Given the description of an element on the screen output the (x, y) to click on. 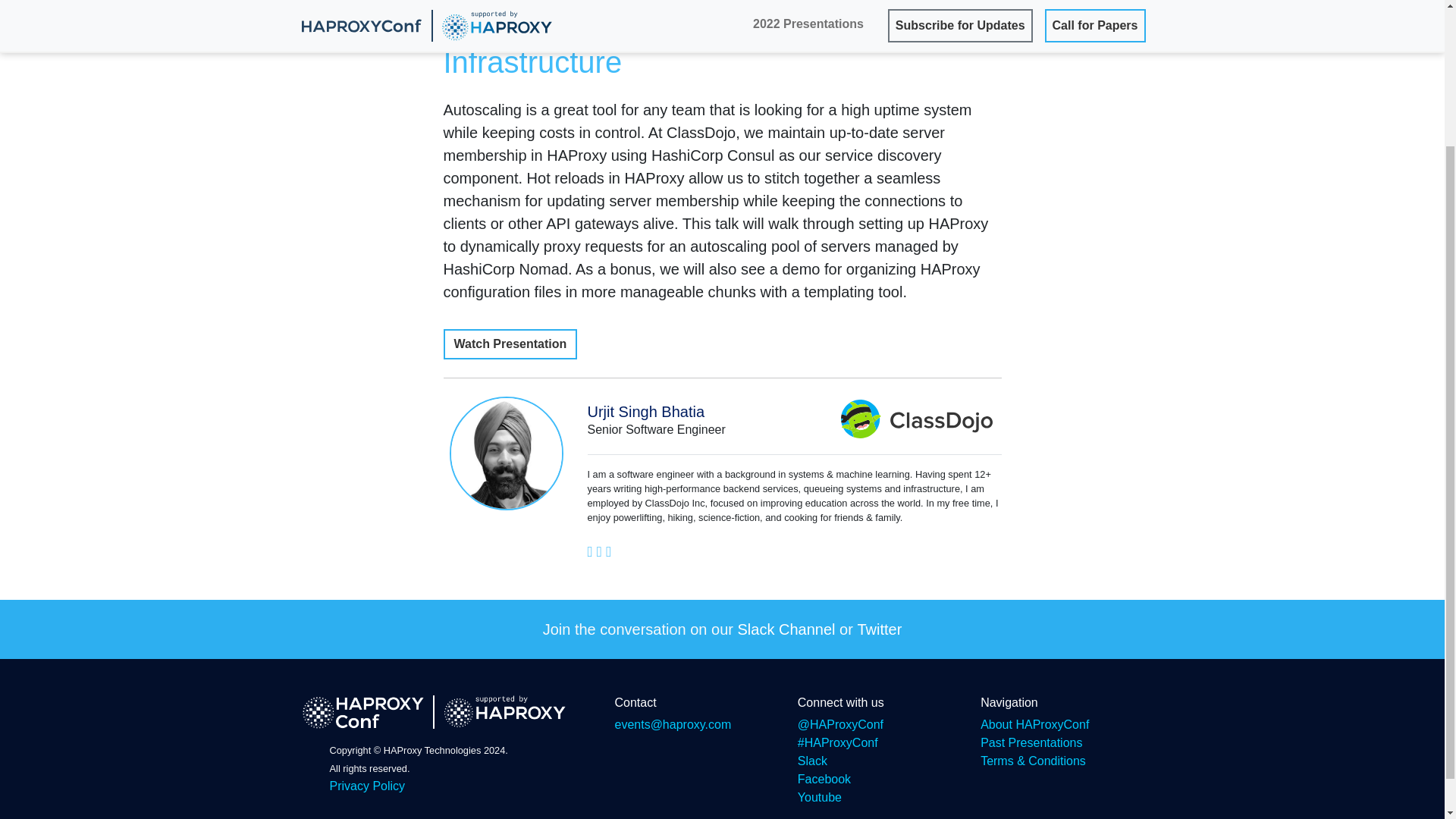
Facebook (823, 779)
HAProxy on Slack (812, 760)
HAProxyConf (362, 710)
Past Presentations (1030, 742)
HAProxy on Facebook (823, 779)
Privacy Policy (366, 785)
Past Presentations (1030, 742)
Youtube (819, 797)
Twitter (879, 629)
Privacy Policy (366, 785)
HAProxy on Youtube (819, 797)
HAProxyConf on Twitter (840, 724)
HAProxy Technologies (505, 710)
Slack (812, 760)
Contact HAProxyConf (672, 724)
